Given the description of an element on the screen output the (x, y) to click on. 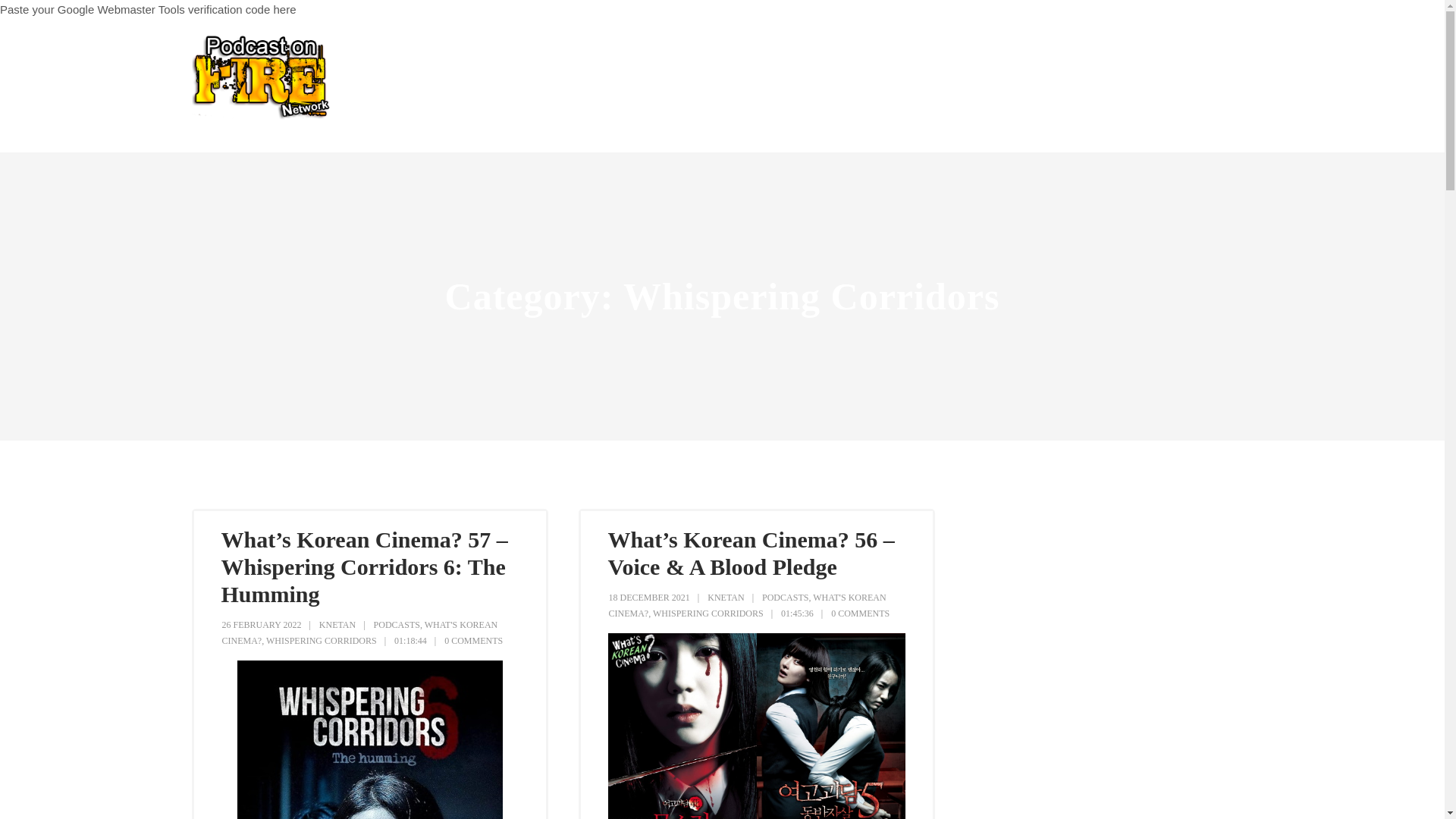
0 COMMENTS (473, 640)
WHAT'S KOREAN CINEMA? (359, 632)
WHISPERING CORRIDORS (321, 640)
PODCASTS (397, 624)
PODCASTS (784, 597)
WHAT'S KOREAN CINEMA? (746, 605)
KNETAN (725, 597)
KNETAN (336, 624)
0 COMMENTS (860, 613)
18 DECEMBER 2021 (648, 597)
26 FEBRUARY 2022 (261, 624)
WHISPERING CORRIDORS (707, 613)
